Given the description of an element on the screen output the (x, y) to click on. 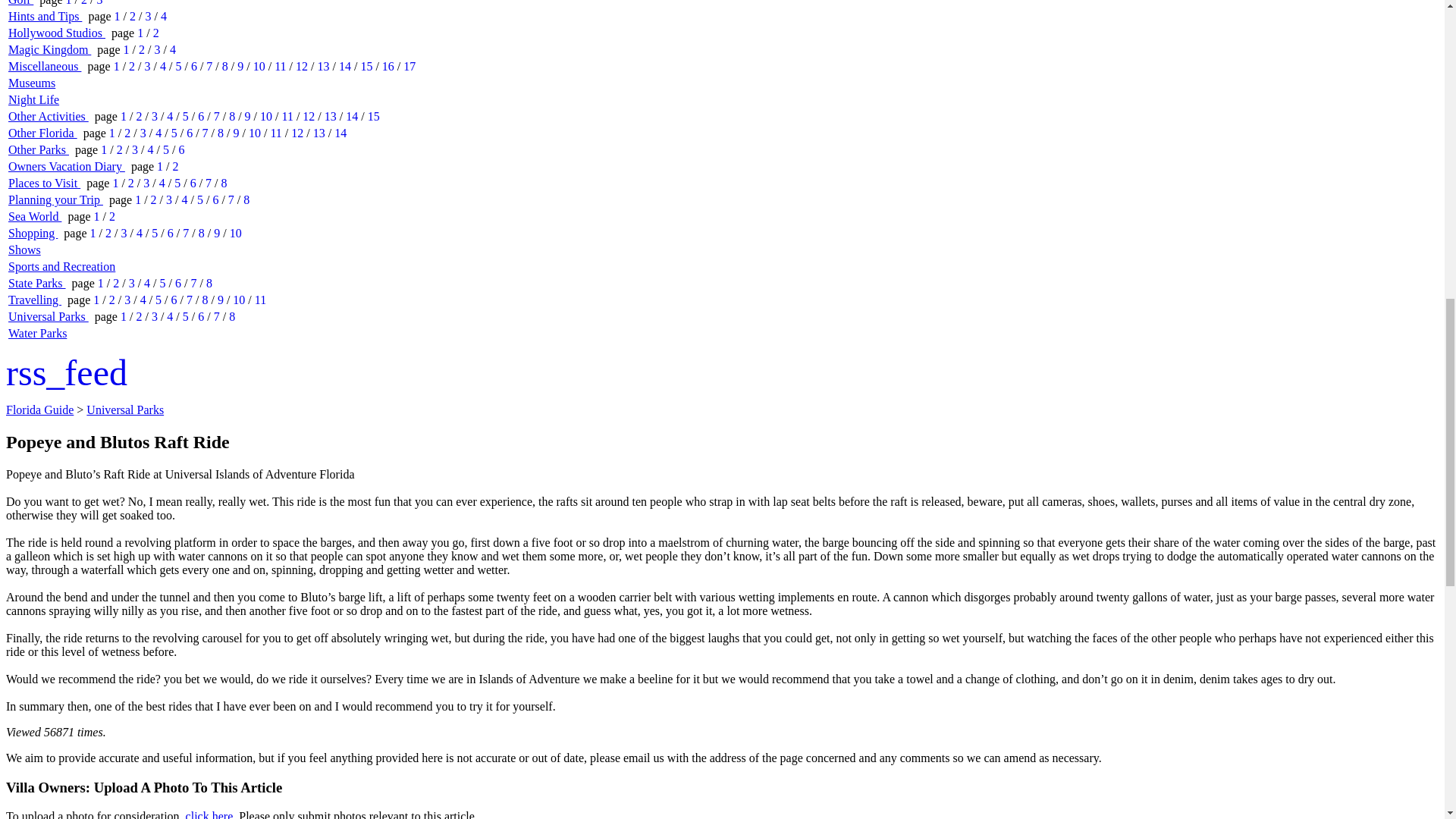
RSS feed (66, 372)
